Given the description of an element on the screen output the (x, y) to click on. 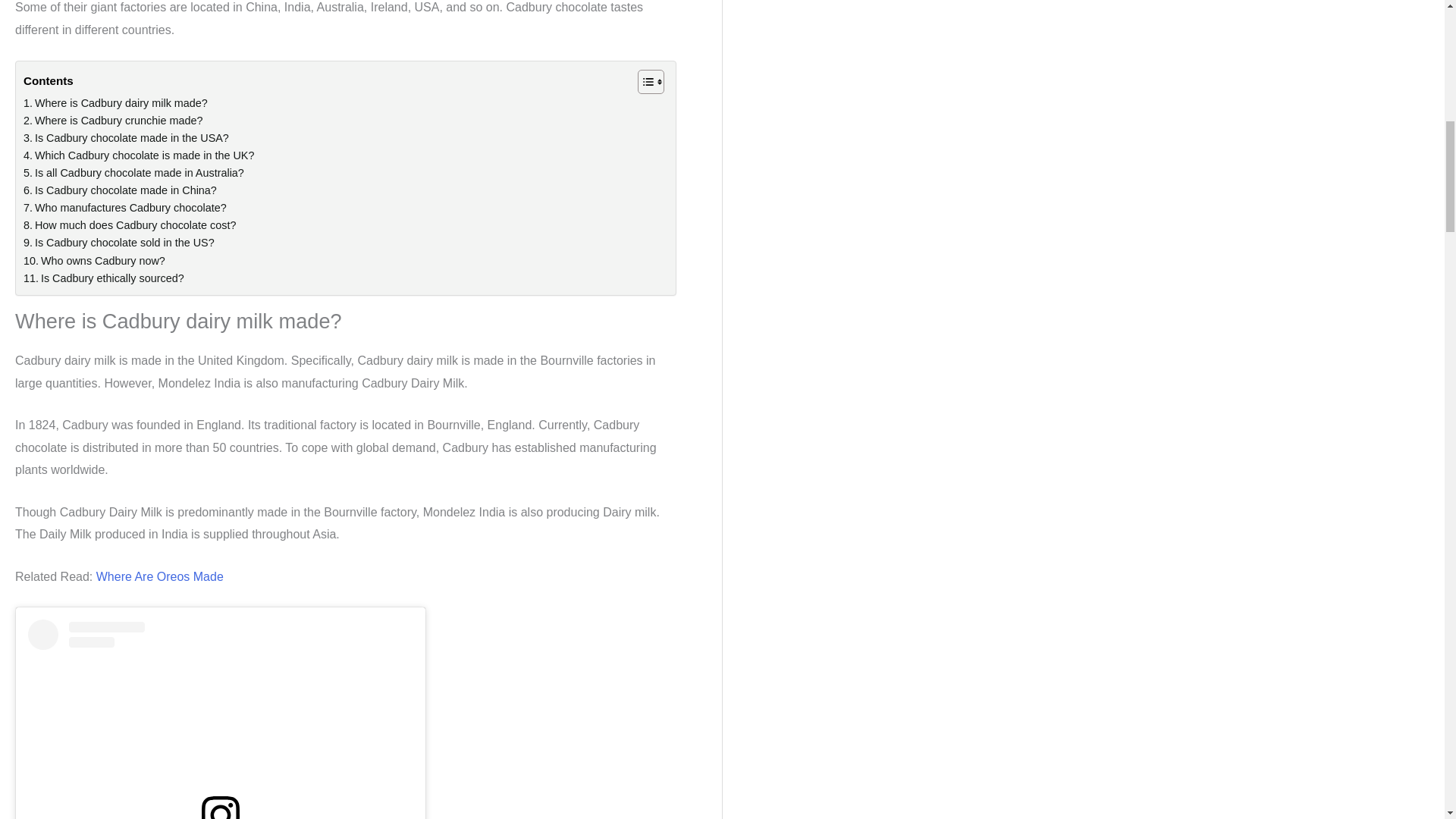
How much does Cadbury chocolate cost? (129, 225)
Where is Cadbury dairy milk made? (115, 103)
Is Cadbury chocolate made in China? (119, 190)
Is Cadbury chocolate sold in the US? (118, 242)
Is Cadbury chocolate sold in the US? (118, 242)
Where is Cadbury crunchie made? (112, 120)
Who manufactures Cadbury chocolate? (125, 208)
Where is Cadbury crunchie made? (112, 120)
Is all Cadbury chocolate made in Australia? (133, 172)
View this post on Instagram (220, 719)
